Given the description of an element on the screen output the (x, y) to click on. 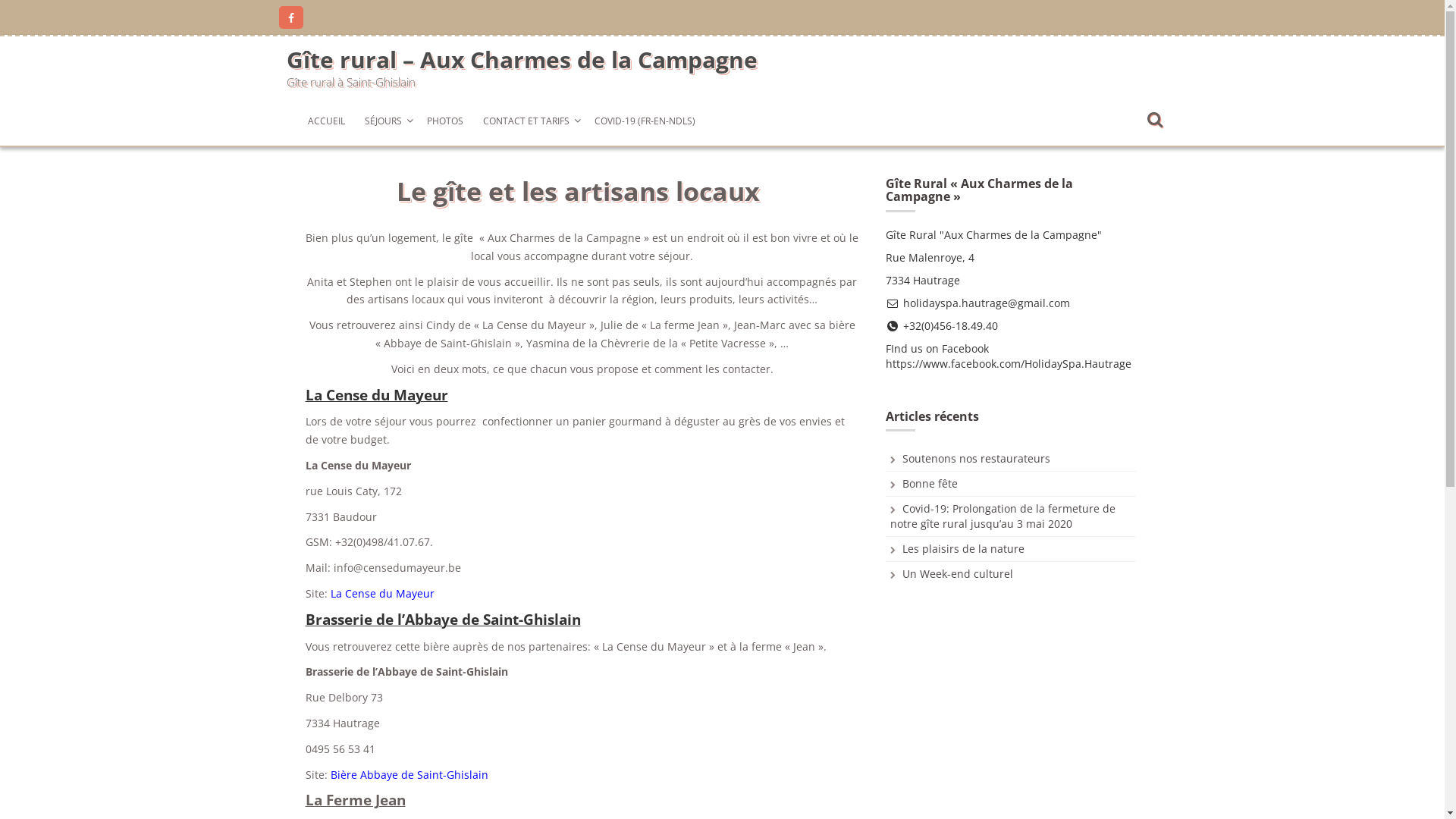
ACCUEIL Element type: text (325, 120)
Les plaisirs de la nature Element type: text (963, 548)
Soutenons nos restaurateurs Element type: text (976, 458)
PHOTOS Element type: text (445, 120)
CONTACT ET TARIFS Element type: text (528, 120)
COVID-19 (FR-EN-NDLS) Element type: text (643, 120)
Un Week-end culturel Element type: text (957, 573)
